Given the description of an element on the screen output the (x, y) to click on. 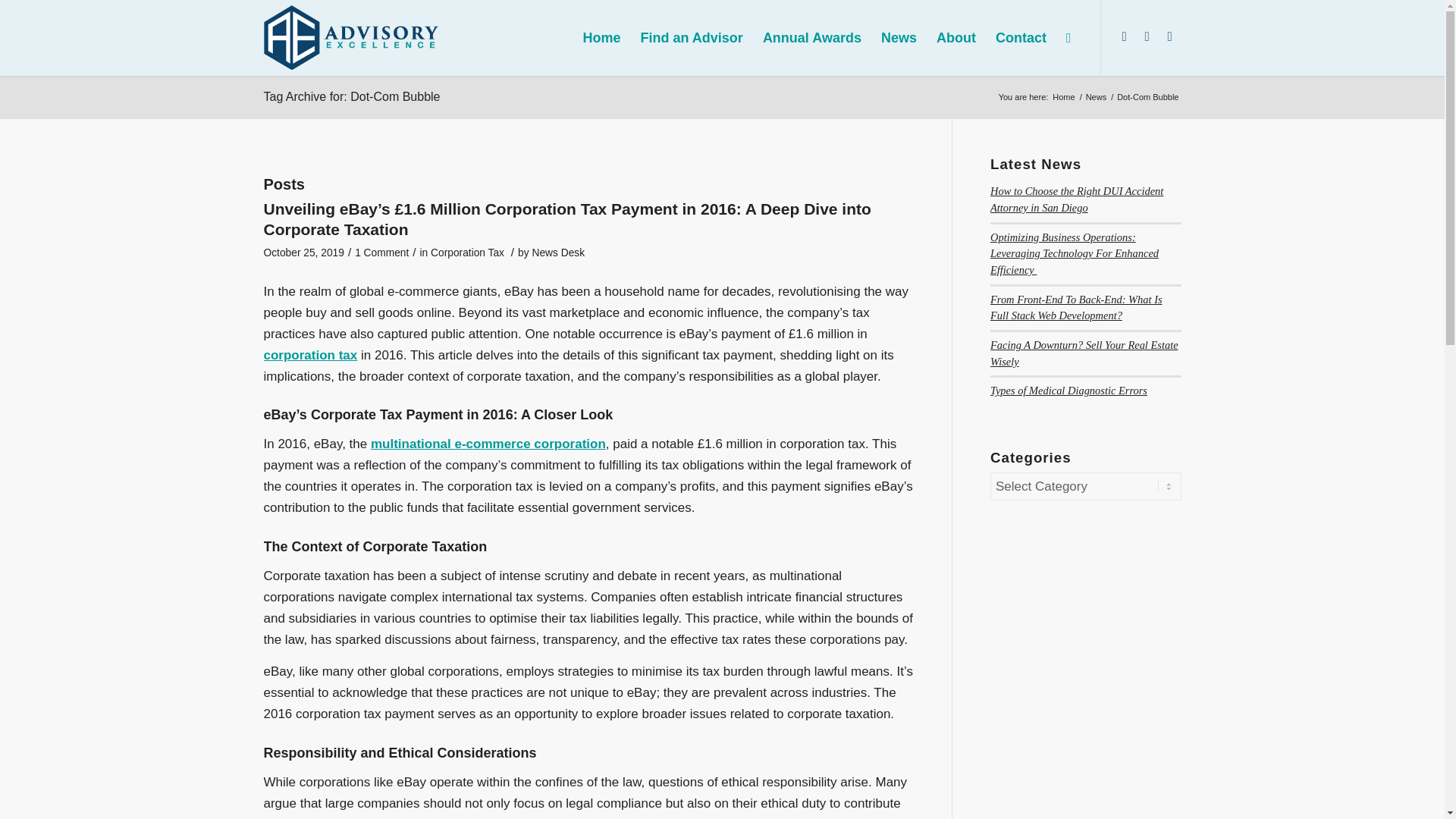
corporation tax (310, 355)
1 Comment (382, 252)
Advisory Excellence (1063, 97)
Tag Archive for: Dot-Com Bubble (352, 96)
How to Choose the Right DUI Accident Attorney in San Diego (1076, 199)
News Desk (558, 252)
Annual Awards (811, 38)
Home (1063, 97)
Posts by News Desk (558, 252)
Permanent Link: Tag Archive for: Dot-Com Bubble (352, 96)
Facebook (1169, 36)
Corporation Tax (466, 252)
Twitter (1146, 36)
Contact (1021, 38)
